Given the description of an element on the screen output the (x, y) to click on. 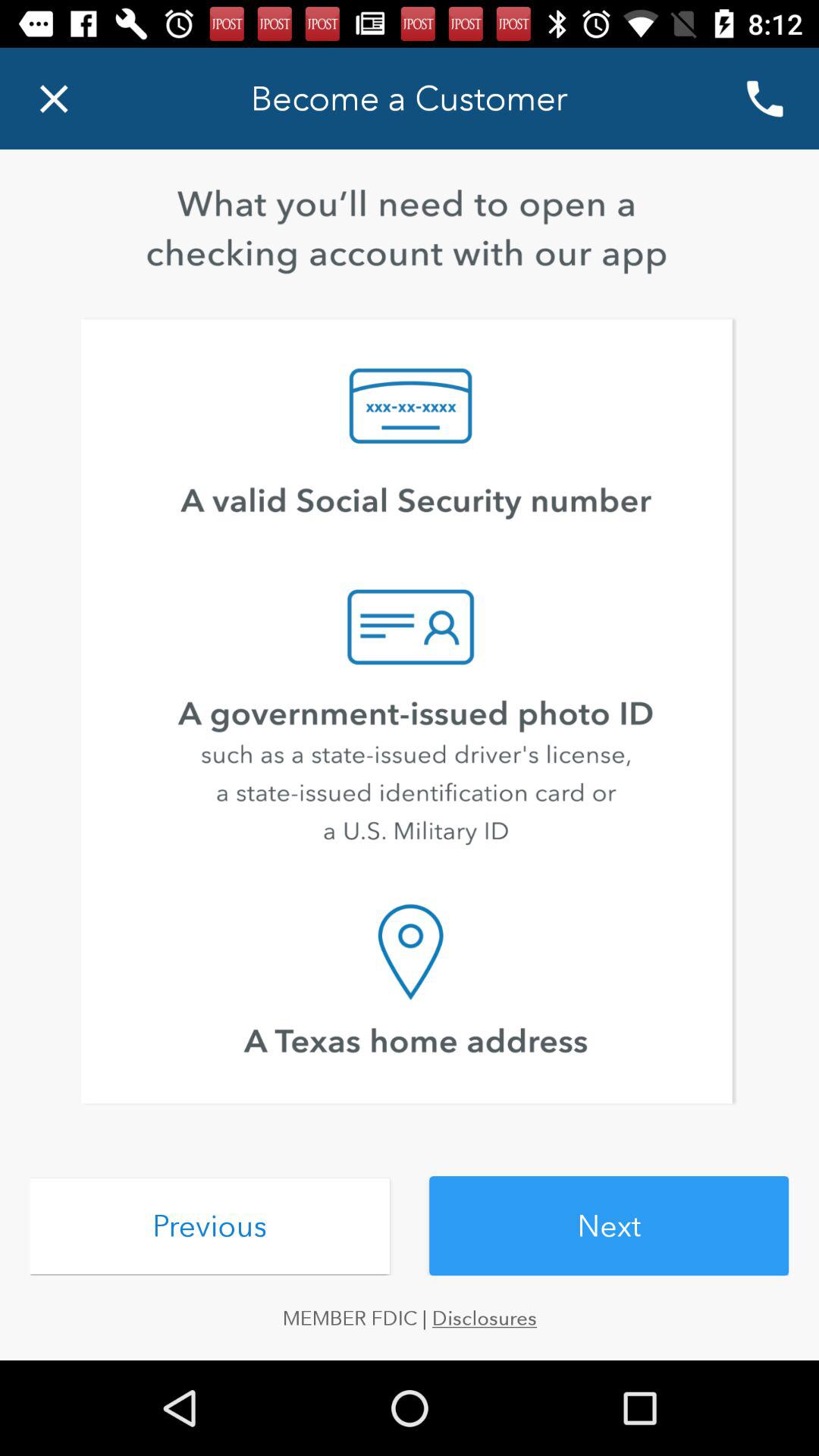
press the member fdic | disclosures (409, 1317)
